Given the description of an element on the screen output the (x, y) to click on. 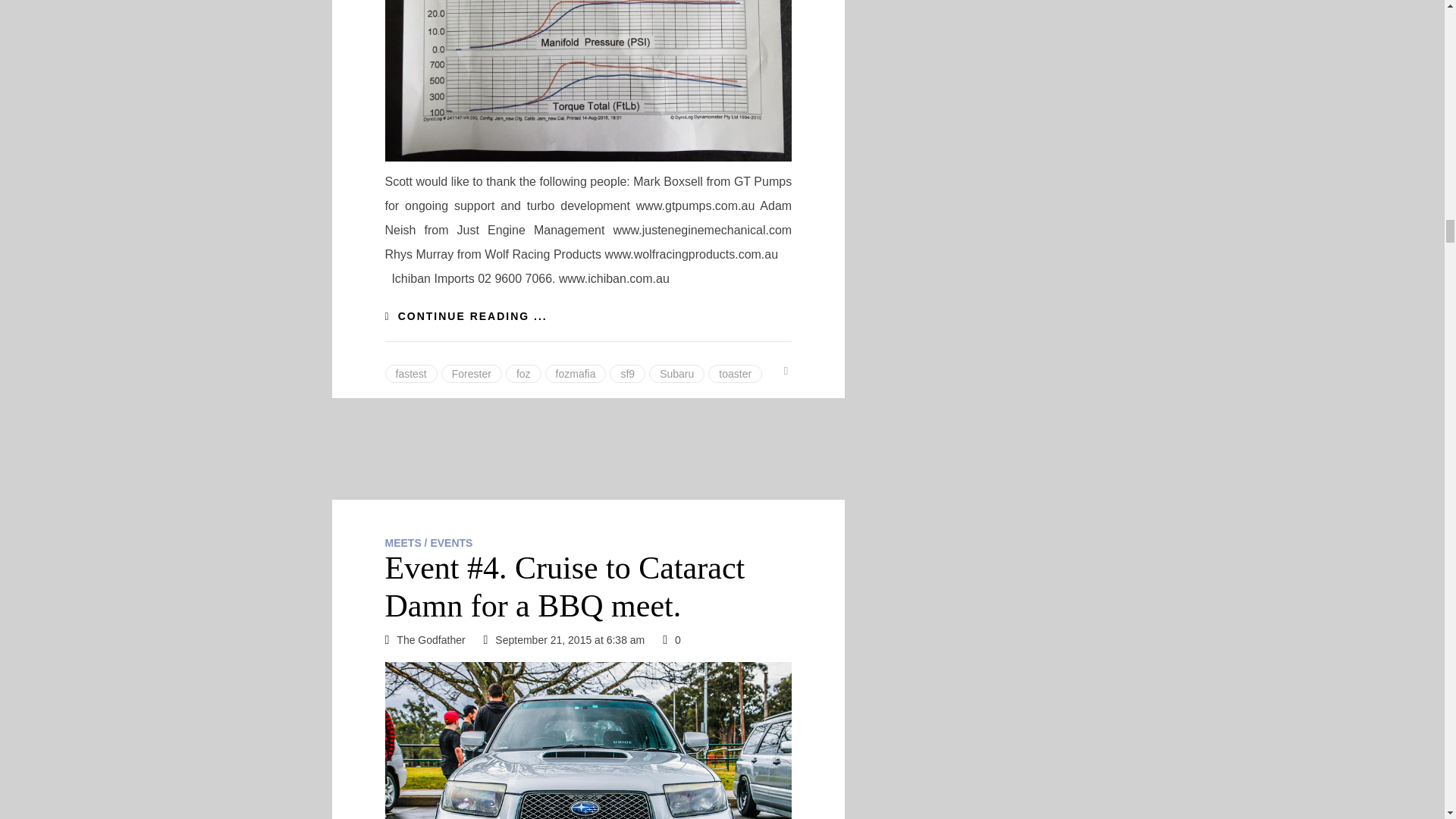
Posts by The Godfather (430, 639)
